Given the description of an element on the screen output the (x, y) to click on. 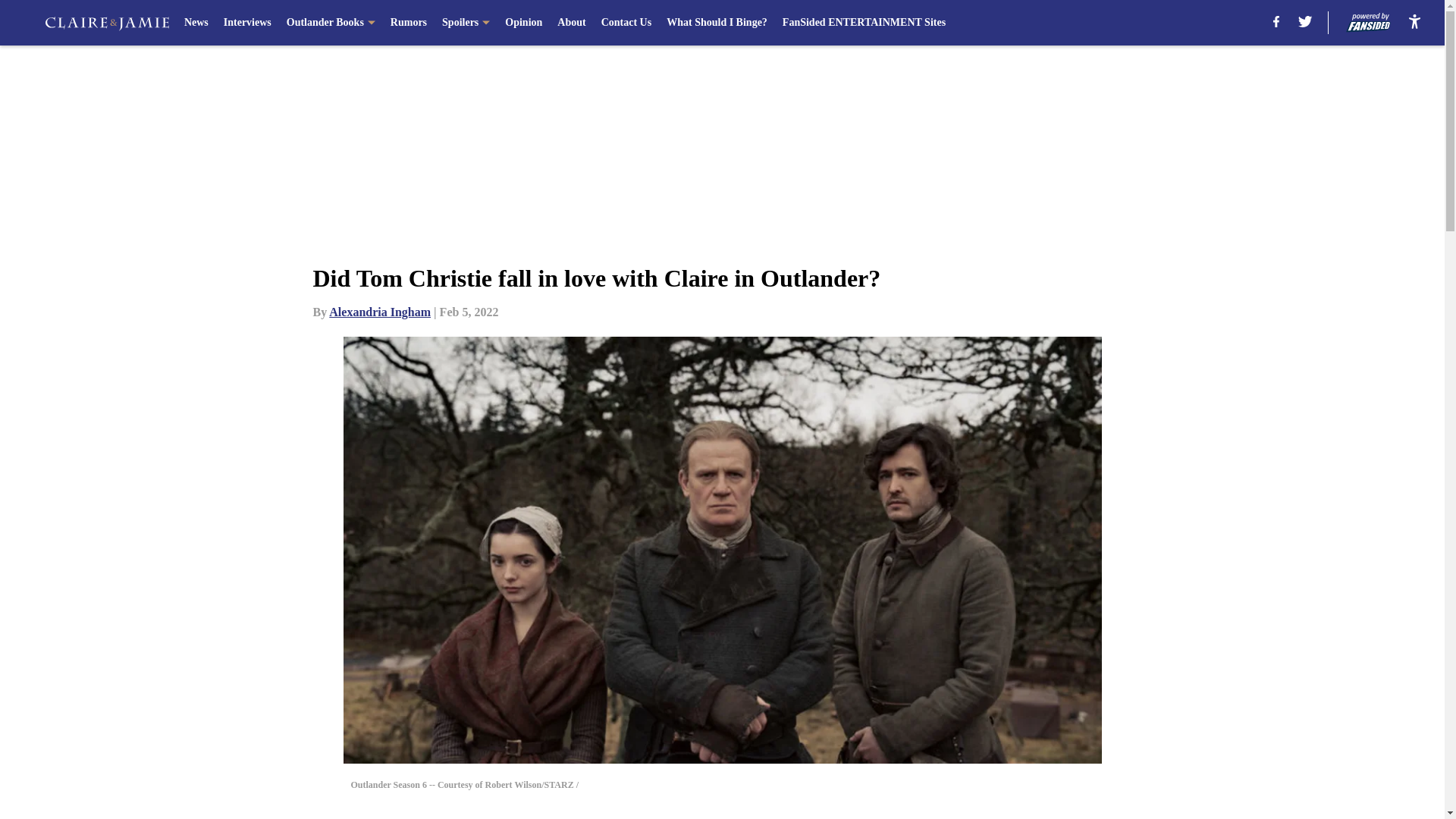
FanSided ENTERTAINMENT Sites (863, 22)
Interviews (247, 22)
Opinion (523, 22)
Alexandria Ingham (379, 311)
Contact Us (626, 22)
Rumors (408, 22)
About (571, 22)
News (196, 22)
What Should I Binge? (716, 22)
